Given the description of an element on the screen output the (x, y) to click on. 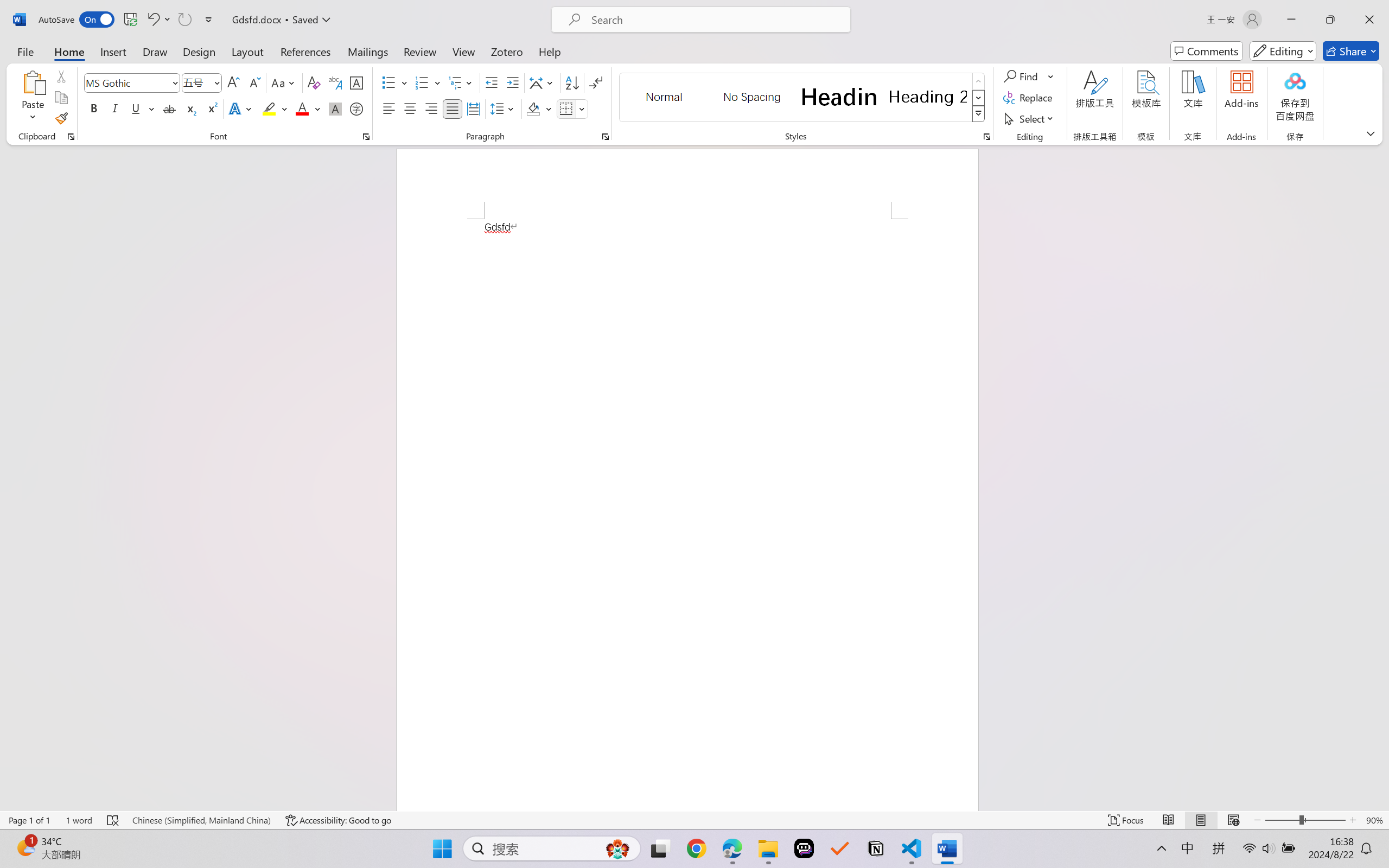
Class: NetUIScrollBar (1382, 477)
